Given the description of an element on the screen output the (x, y) to click on. 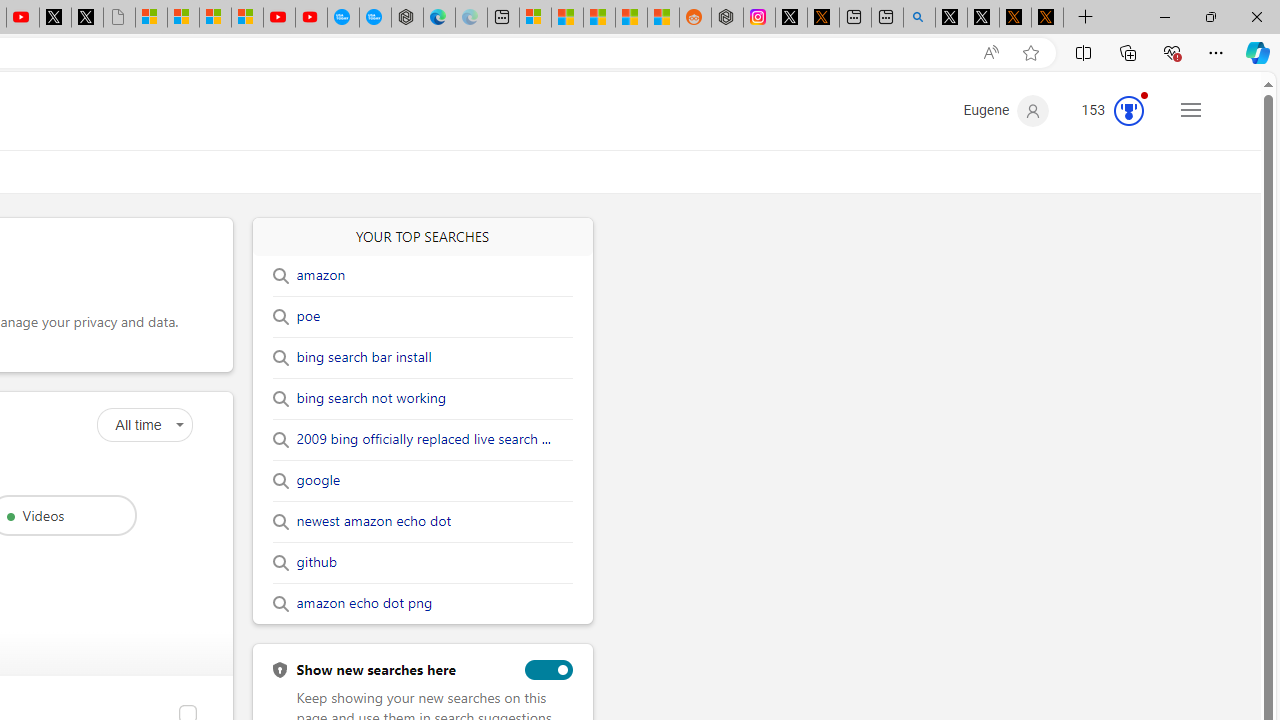
Gloom - YouTube (279, 17)
Nordace - Nordace has arrived Hong Kong (407, 17)
github - Search (919, 17)
Shanghai, China Weather trends | Microsoft Weather (663, 17)
Microsoft Rewards 153 (1105, 110)
Add this page to favorites (Ctrl+D) (1030, 53)
Restore (1210, 16)
Selected time filter is All time (144, 425)
google (317, 480)
Browser essentials (1171, 52)
newest amazon echo dot (373, 521)
help.x.com | 524: A timeout occurred (822, 17)
New Tab (1085, 17)
